Given the description of an element on the screen output the (x, y) to click on. 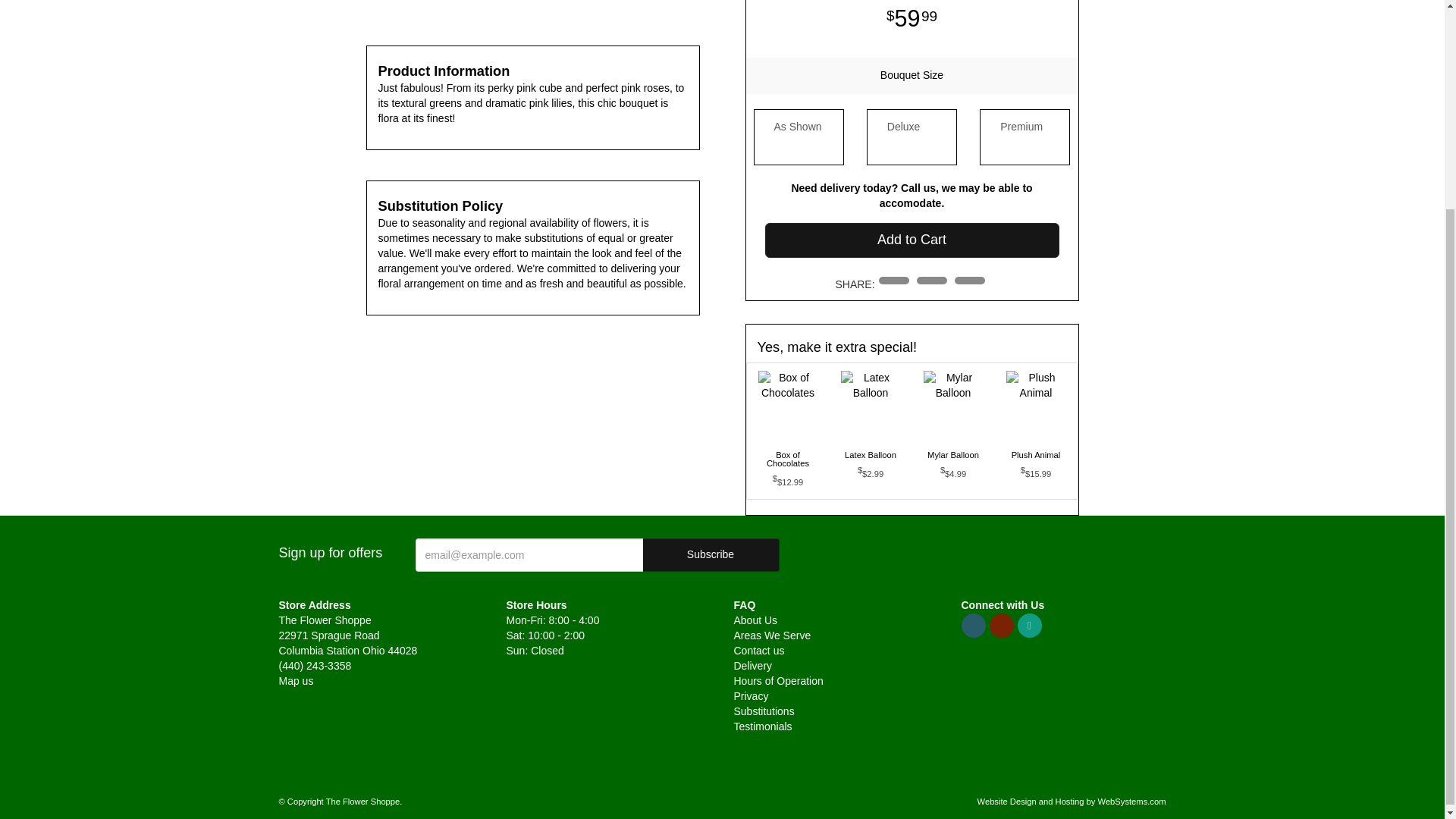
Subscribe (710, 554)
